Given the description of an element on the screen output the (x, y) to click on. 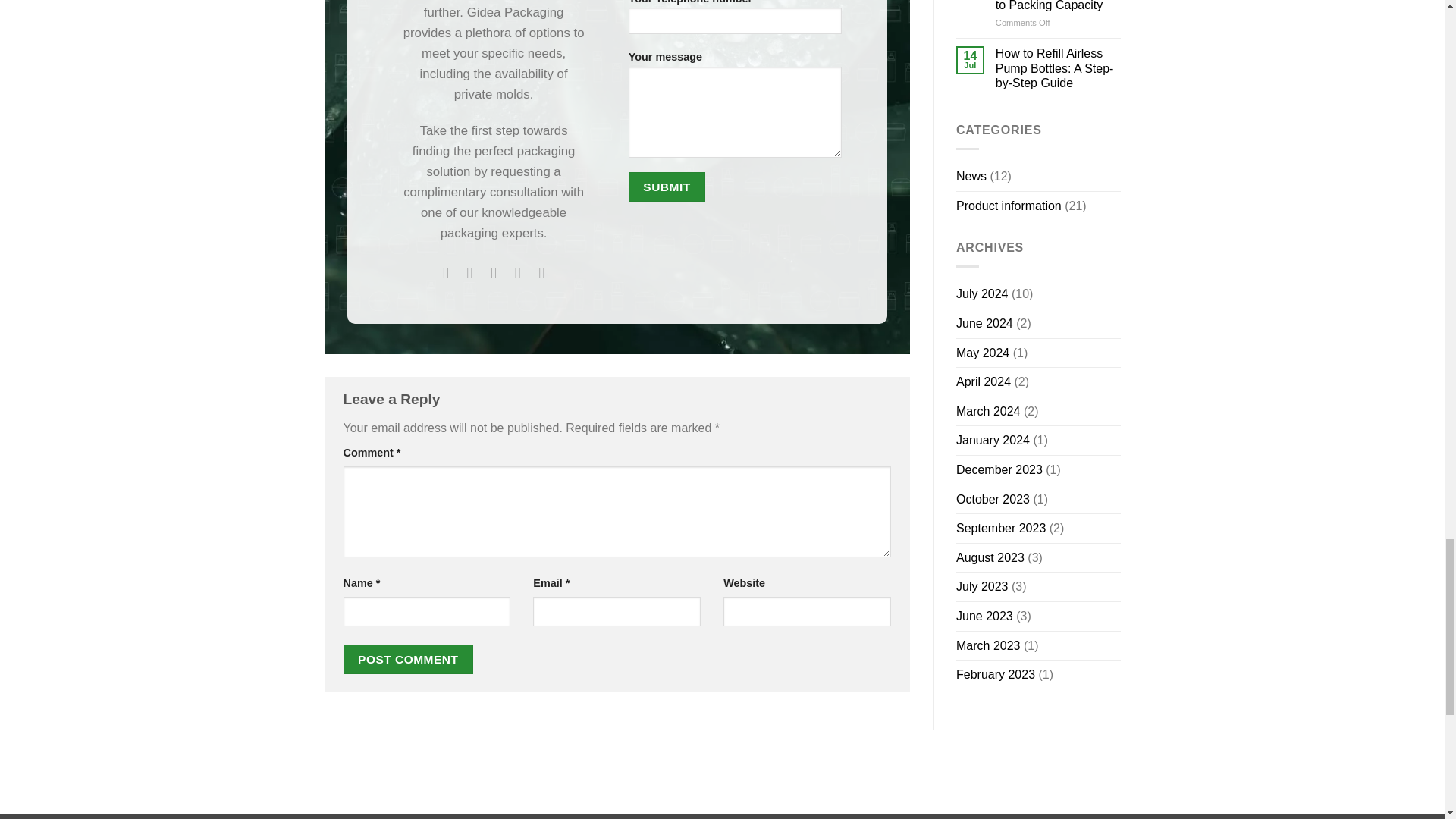
Follow on LinkedIn (517, 272)
Call us (469, 272)
Follow on Pinterest (494, 272)
Follow on YouTube (542, 272)
Post Comment (407, 659)
Send us an email (445, 272)
Submit (666, 186)
